Given the description of an element on the screen output the (x, y) to click on. 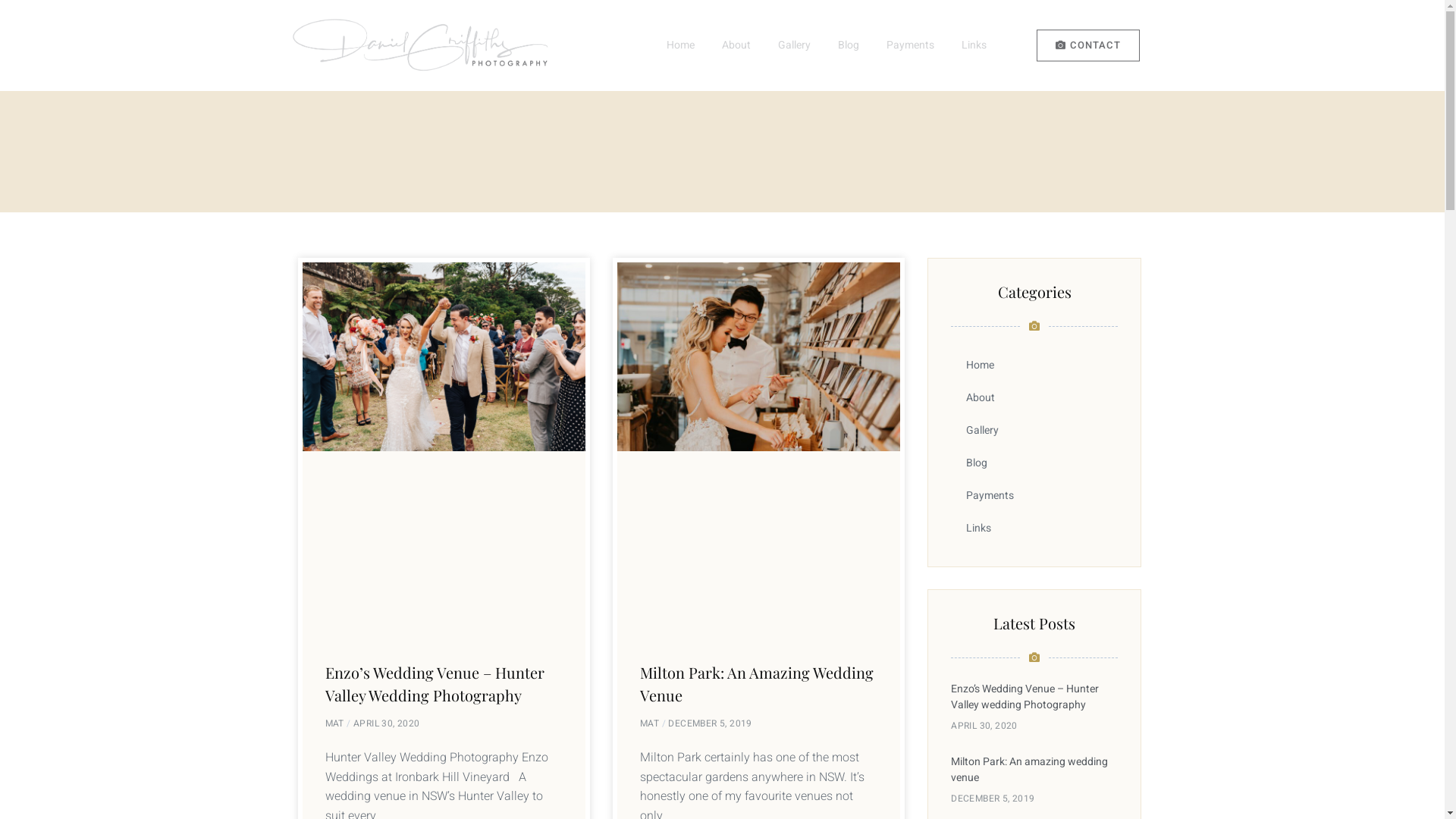
Gallery Element type: text (793, 45)
Milton Park: An amazing wedding venue Element type: text (1028, 769)
Milton Park: An Amazing Wedding Venue Element type: text (756, 683)
Blog Element type: text (1033, 462)
About Element type: text (735, 45)
Links Element type: text (1033, 527)
About Element type: text (1033, 397)
CONTACT Element type: text (1087, 45)
Payments Element type: text (910, 45)
Links Element type: text (973, 45)
Blog Element type: text (848, 45)
Gallery Element type: text (1033, 429)
Payments Element type: text (1033, 495)
Home Element type: text (680, 45)
Home Element type: text (1033, 364)
